Given the description of an element on the screen output the (x, y) to click on. 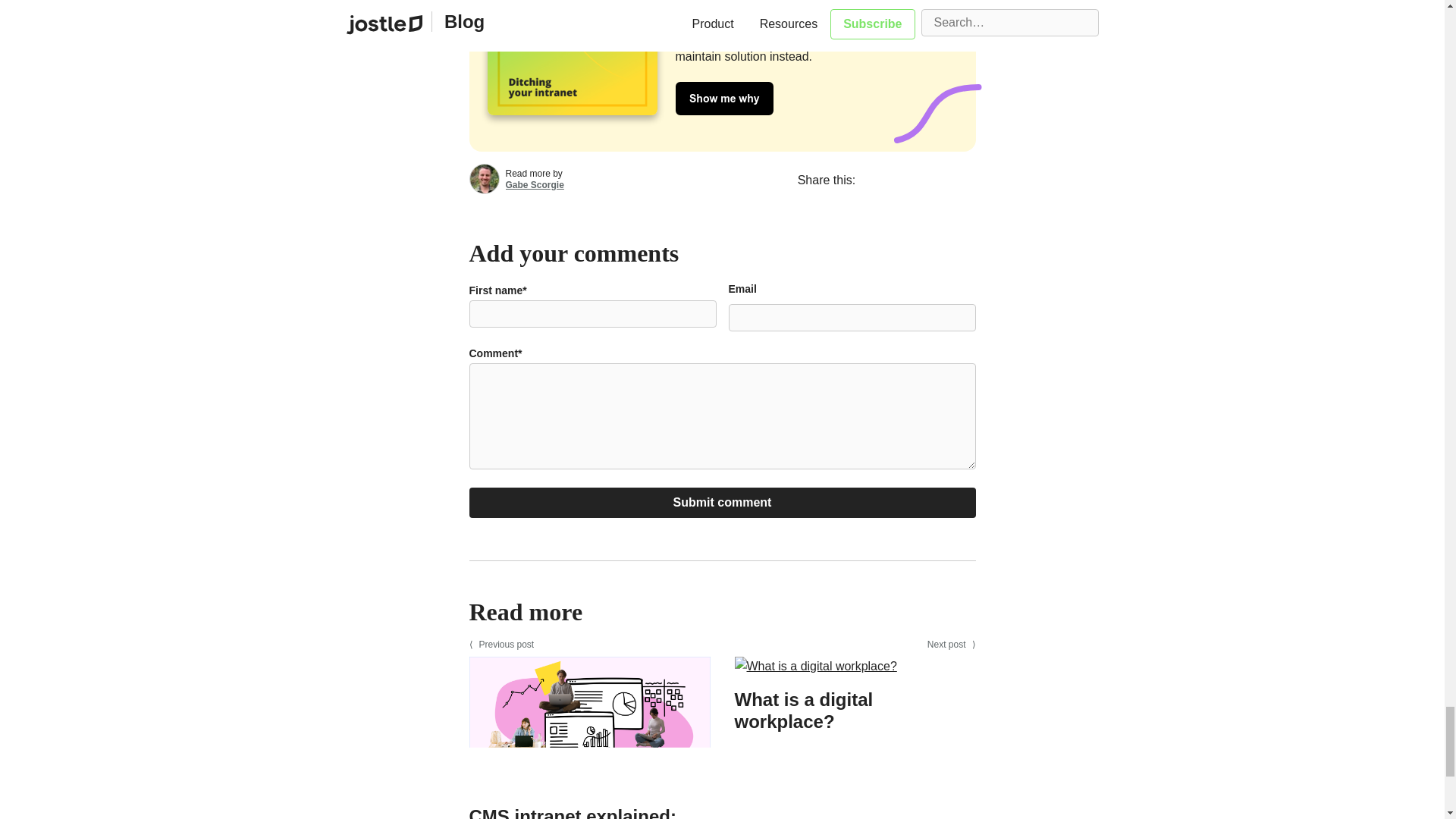
Share on LinkedIn (957, 178)
What is a digital workplace? (814, 677)
Share on Twitter (919, 178)
Submit comment (721, 502)
CMS intranet explained: Examples and use cases (589, 794)
Share on Facebook (881, 178)
Gabe Scorgie (534, 184)
